Given the description of an element on the screen output the (x, y) to click on. 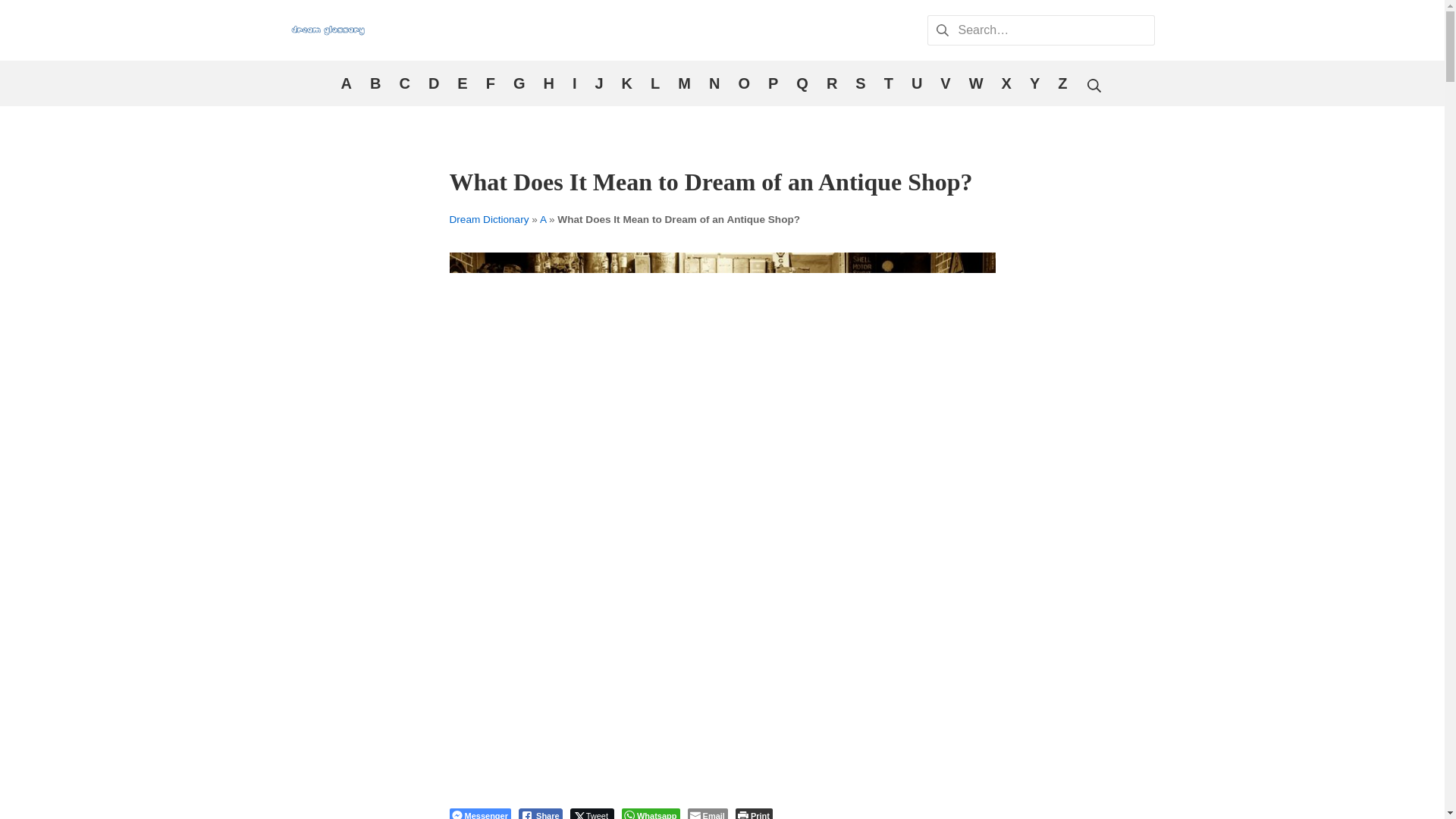
Search (35, 15)
Dream Glossary (327, 30)
